Given the description of an element on the screen output the (x, y) to click on. 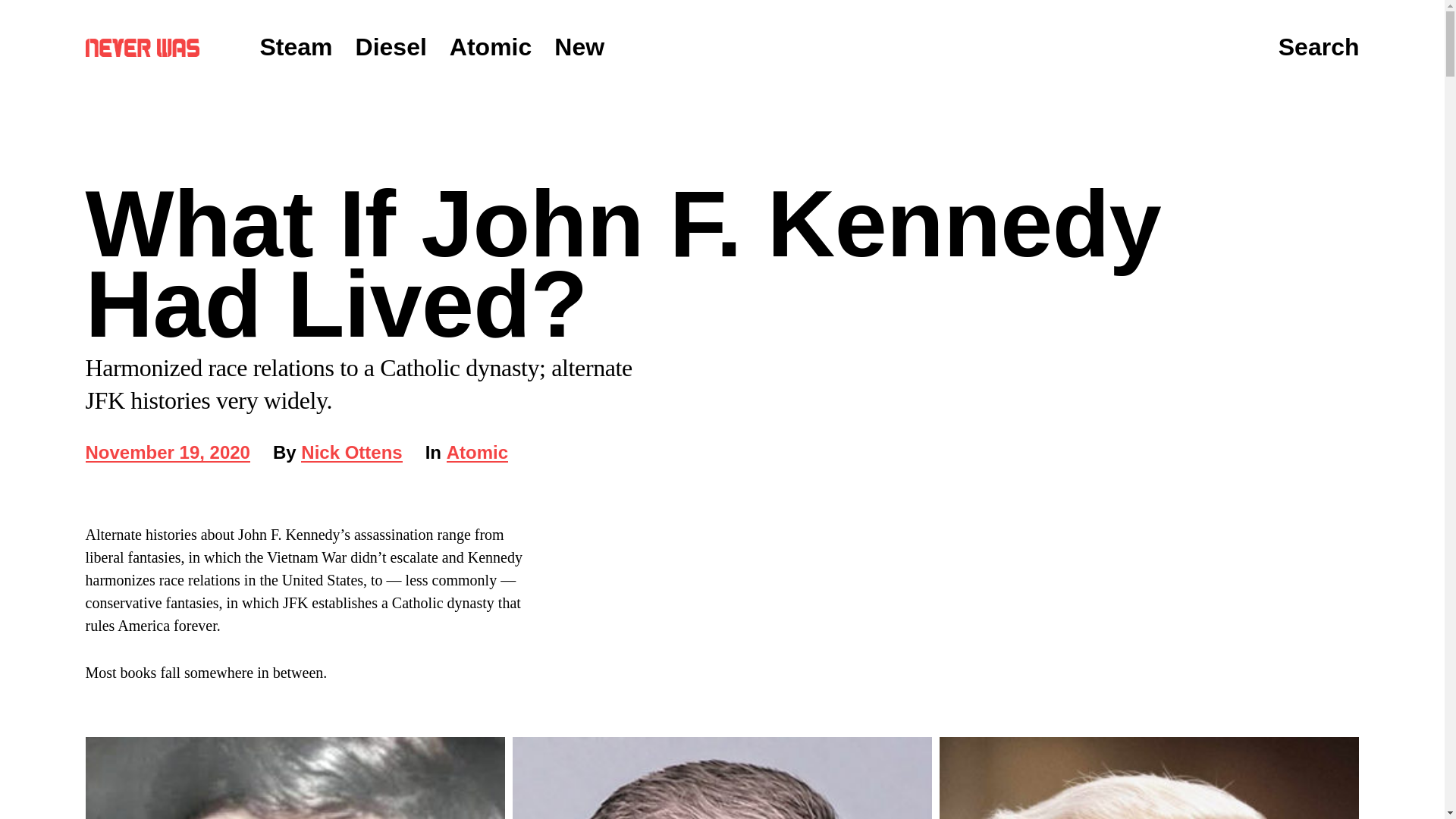
Atomic (490, 47)
Never Was (141, 47)
Atomic (477, 453)
New (166, 453)
Nick Ottens (579, 47)
Diesel (351, 453)
Search (390, 47)
Steam (1318, 47)
